Given the description of an element on the screen output the (x, y) to click on. 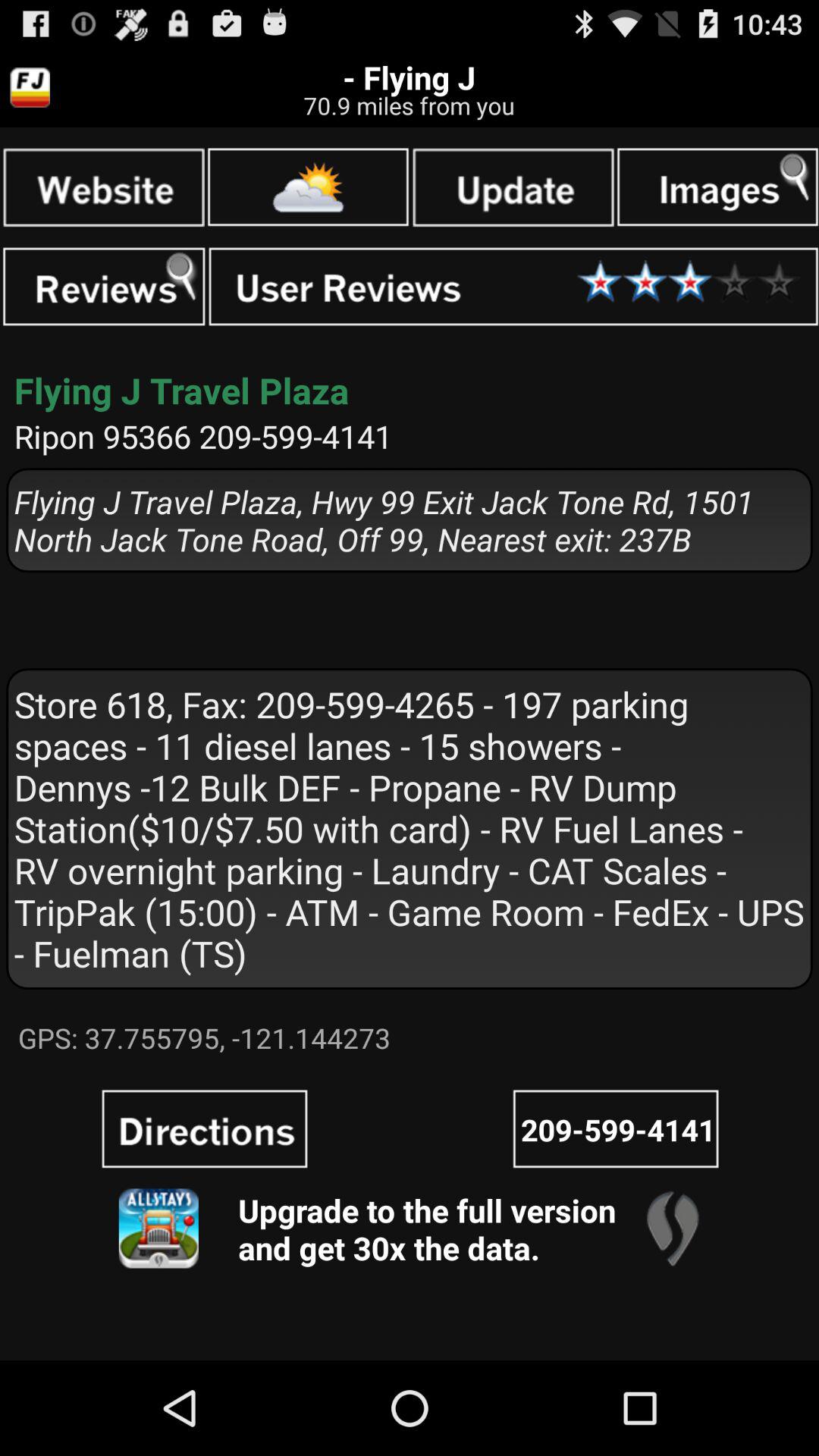
go to the text which is right of the text reviews (513, 286)
click on website (103, 187)
click on reviews (104, 286)
